Given the description of an element on the screen output the (x, y) to click on. 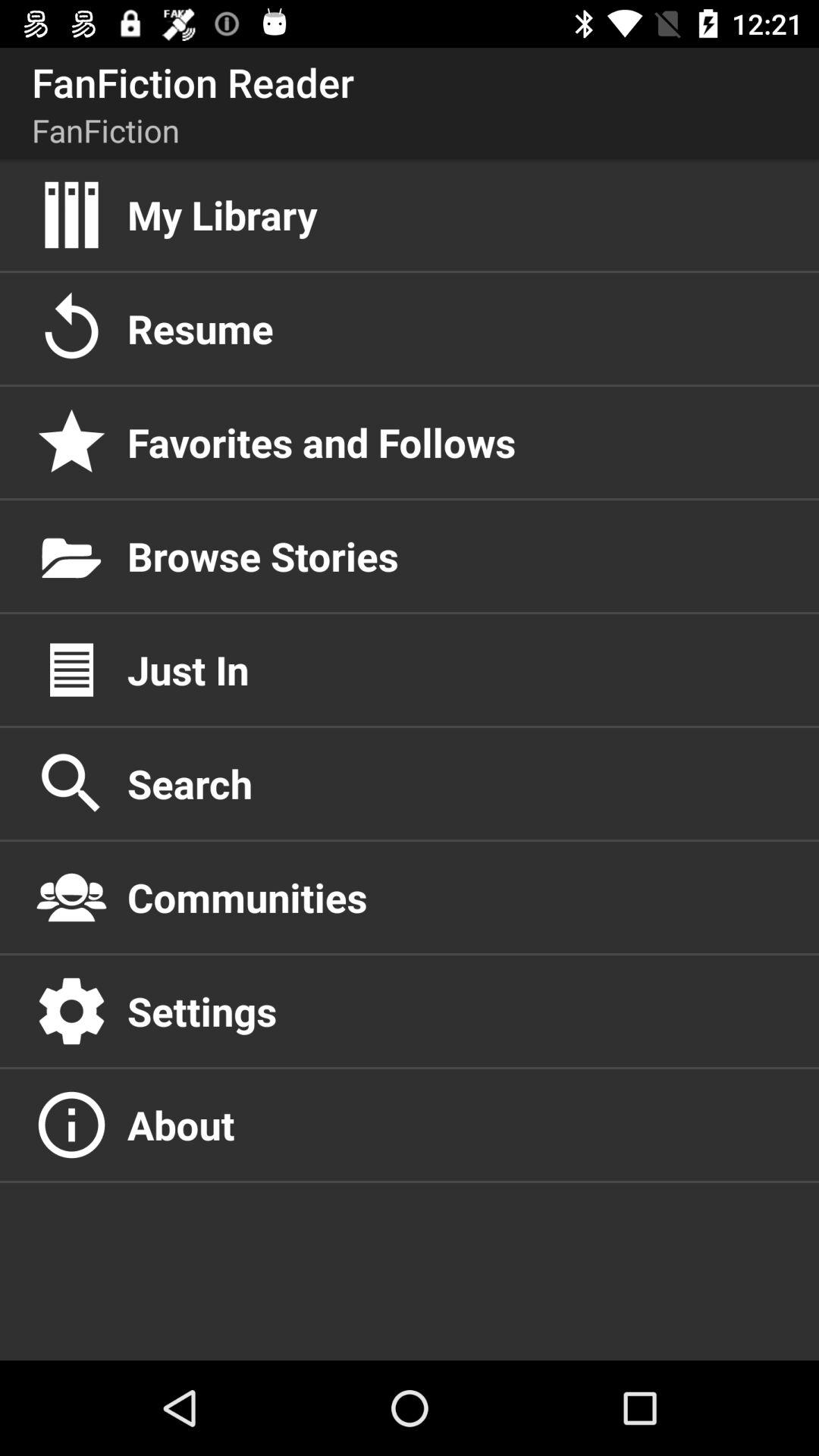
jump to browse stories item (457, 556)
